Given the description of an element on the screen output the (x, y) to click on. 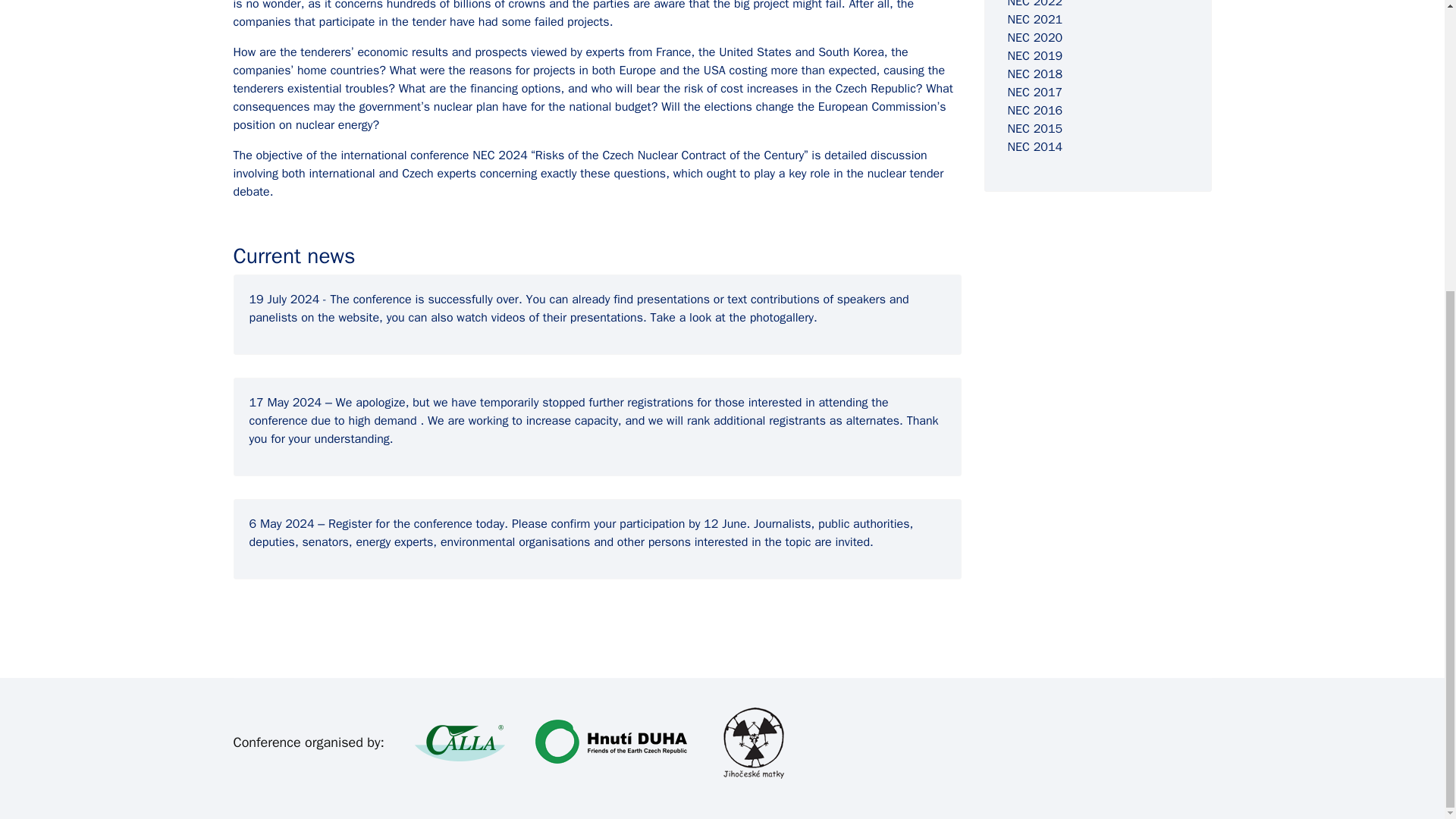
NEC 2022 (1034, 4)
photogallery (781, 317)
videos of their presentations (567, 317)
NEC 2017 (1034, 92)
NEC 2020 (1034, 37)
NEC 2015 (1034, 128)
presentations or text contributions (728, 299)
NEC 2014 (1034, 146)
NEC 2016 (1034, 110)
NEC 2018 (1034, 73)
NEC 2021 (1034, 19)
NEC 2019 (1034, 55)
